Given the description of an element on the screen output the (x, y) to click on. 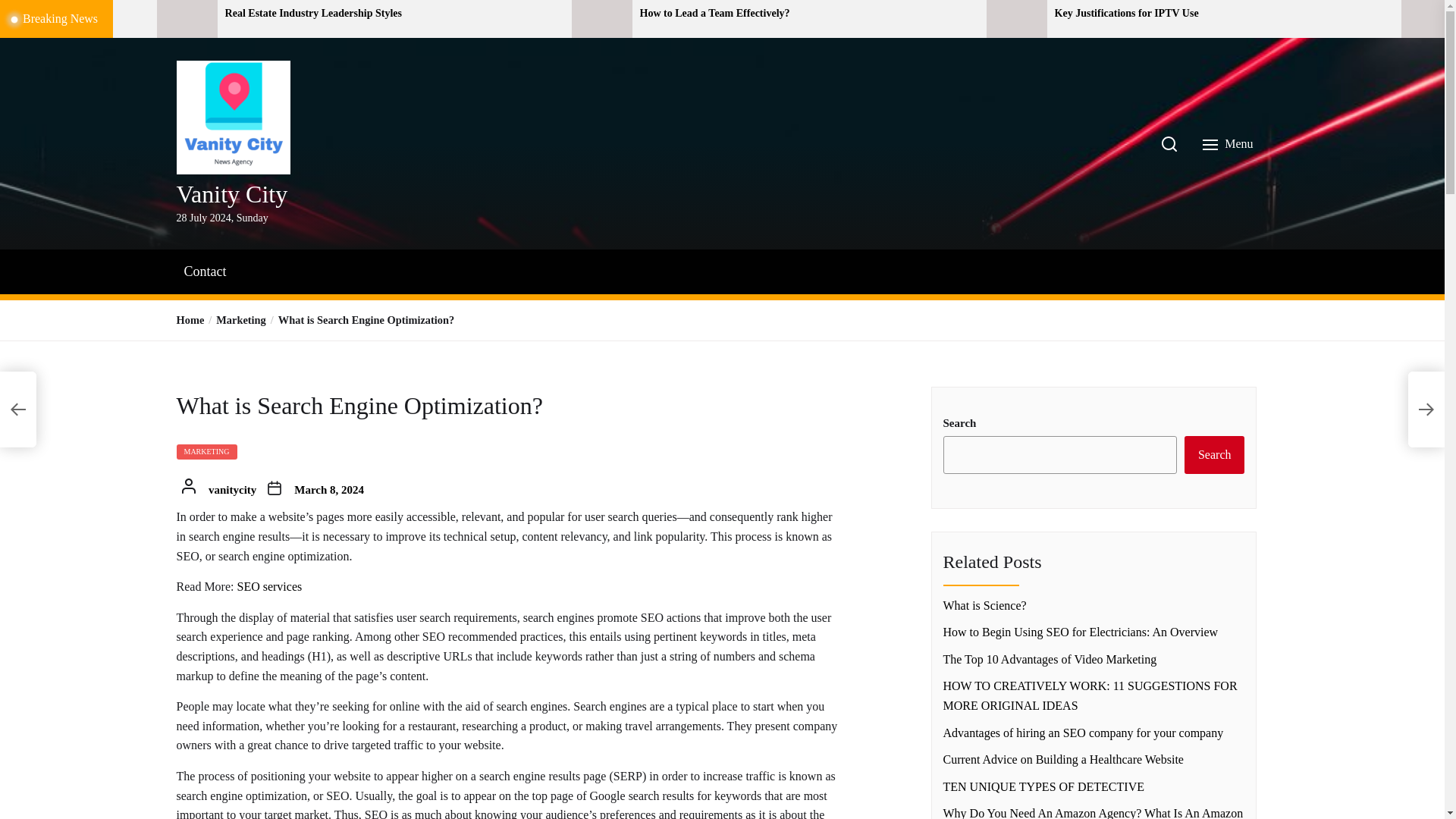
Real Estate Industry Leadership Styles (392, 13)
How to Lead a Team Effectively? (807, 13)
Key Justifications for IPTV Use (1222, 13)
The advantages of soaking in a hot tub for health (72, 13)
